Given the description of an element on the screen output the (x, y) to click on. 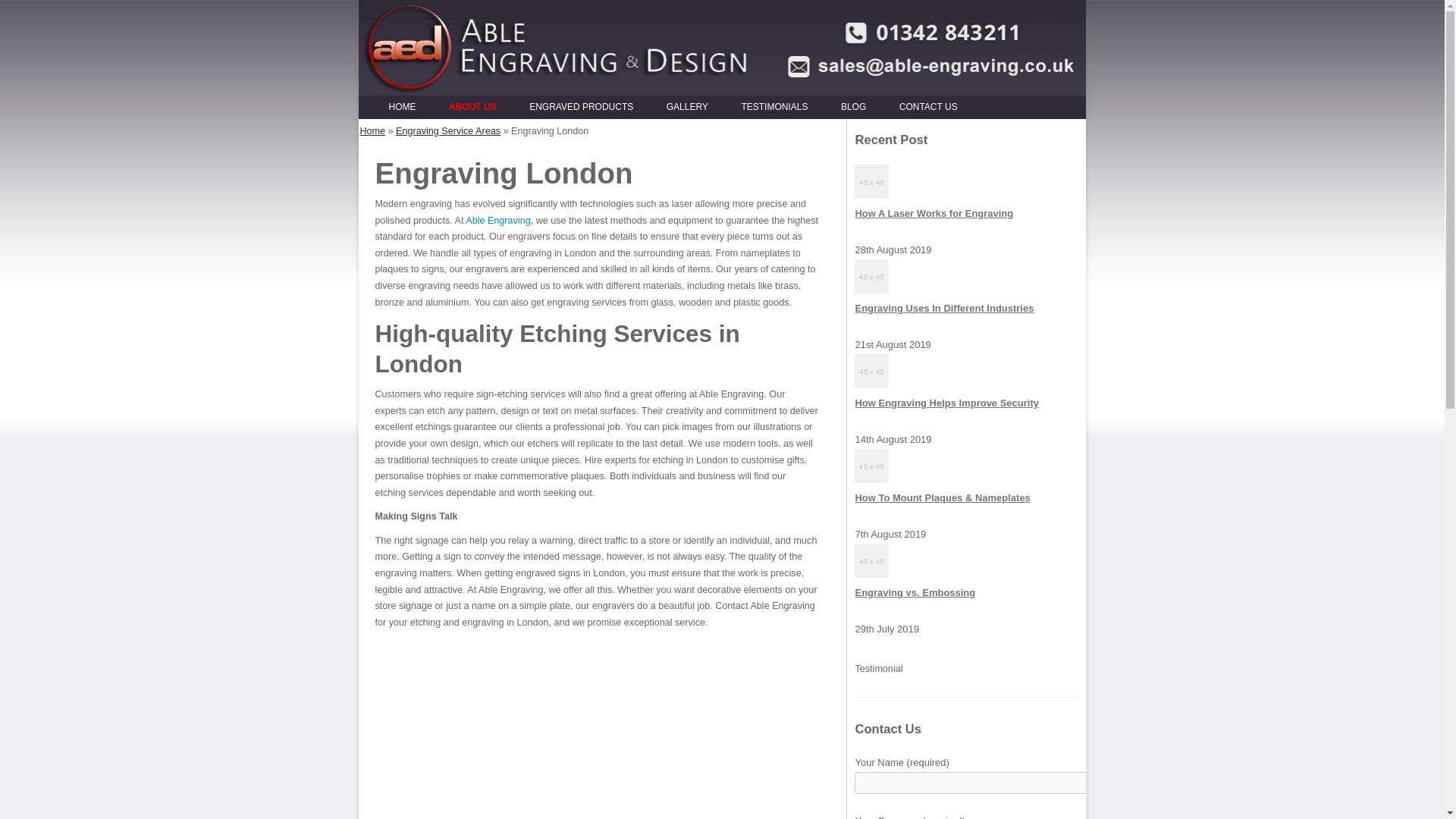
Permalink to Engraving vs. Embossing (914, 592)
Engraving Uses In Different Industries (943, 307)
Permalink to How Engraving Helps Improve Security (946, 402)
HOME (401, 107)
CONTACT US (928, 107)
Able Engraving (497, 220)
Engraving Service Areas (448, 131)
BLOG (853, 107)
GALLERY (686, 107)
Permalink to Engraving Uses In Different Industries (943, 307)
Home (372, 131)
Skip to content (753, 99)
Permalink to How A Laser Works for Engraving (933, 213)
TESTIMONIALS (774, 107)
Skip to content (753, 99)
